Given the description of an element on the screen output the (x, y) to click on. 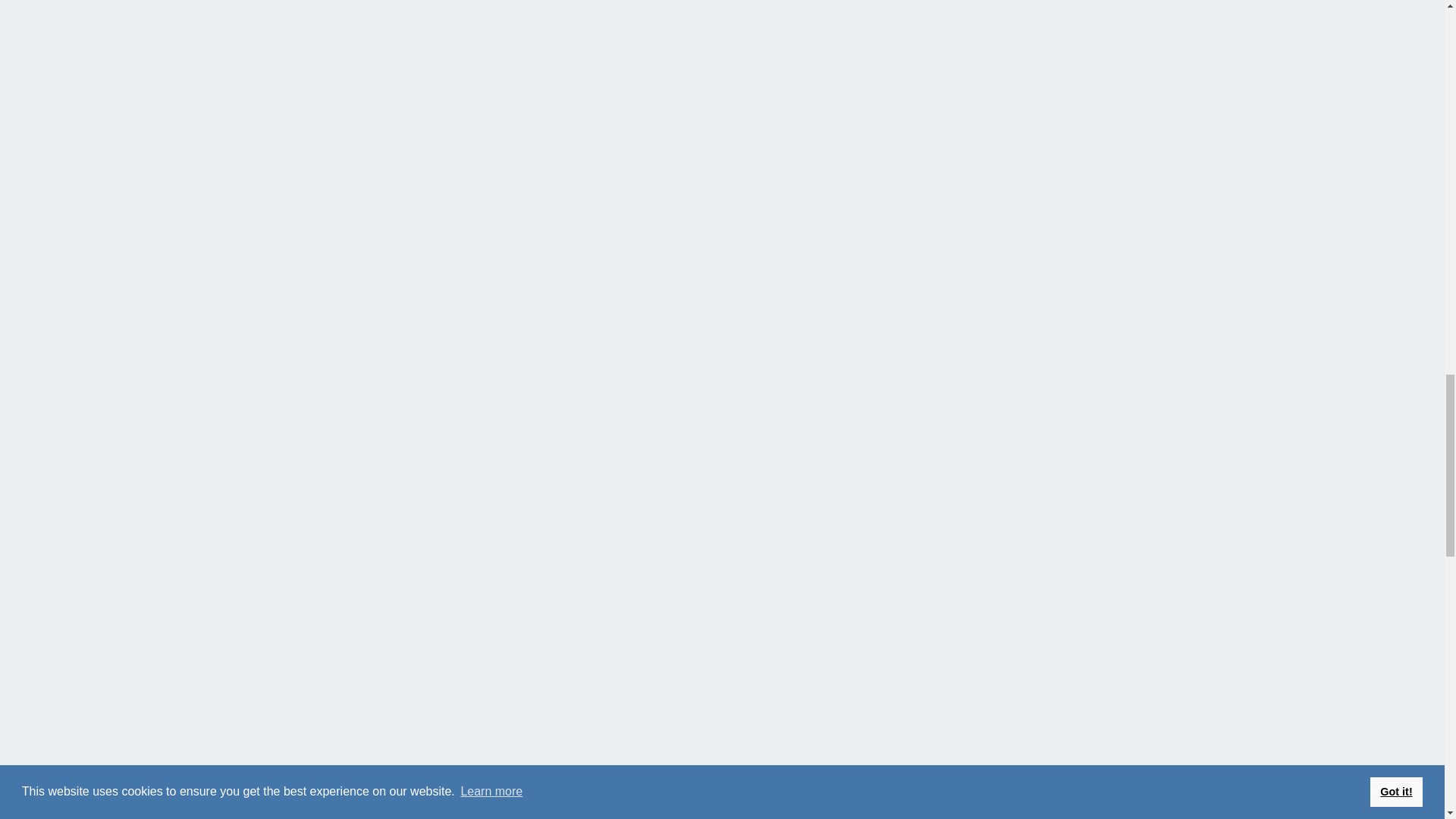
3rd party ad content (266, 484)
3rd party ad content (266, 816)
3rd party ad content (266, 272)
3rd party ad content (266, 77)
3rd party ad content (266, 697)
